Given the description of an element on the screen output the (x, y) to click on. 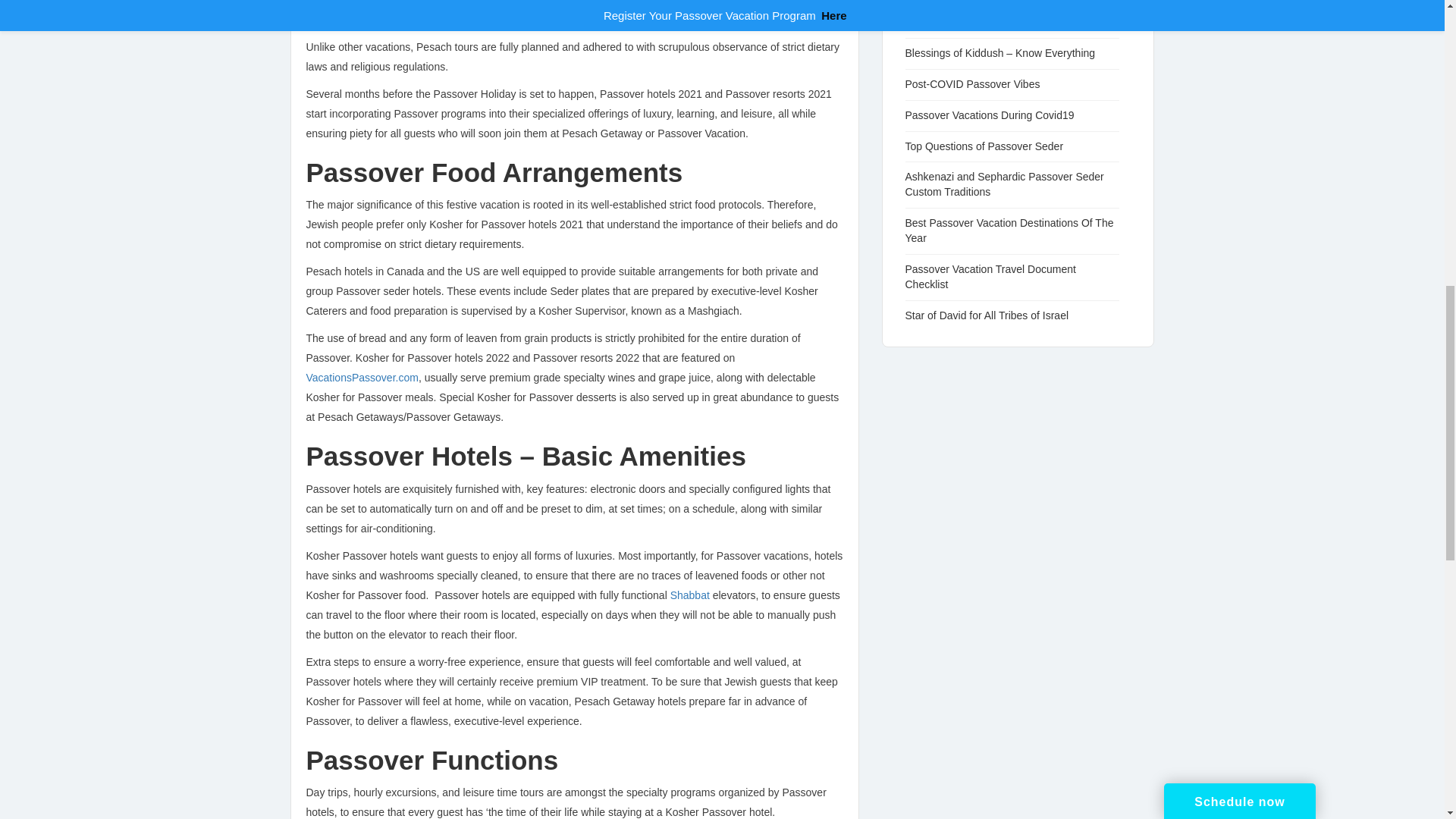
VacationsPassover.com (362, 377)
Shabbat (689, 594)
